Given the description of an element on the screen output the (x, y) to click on. 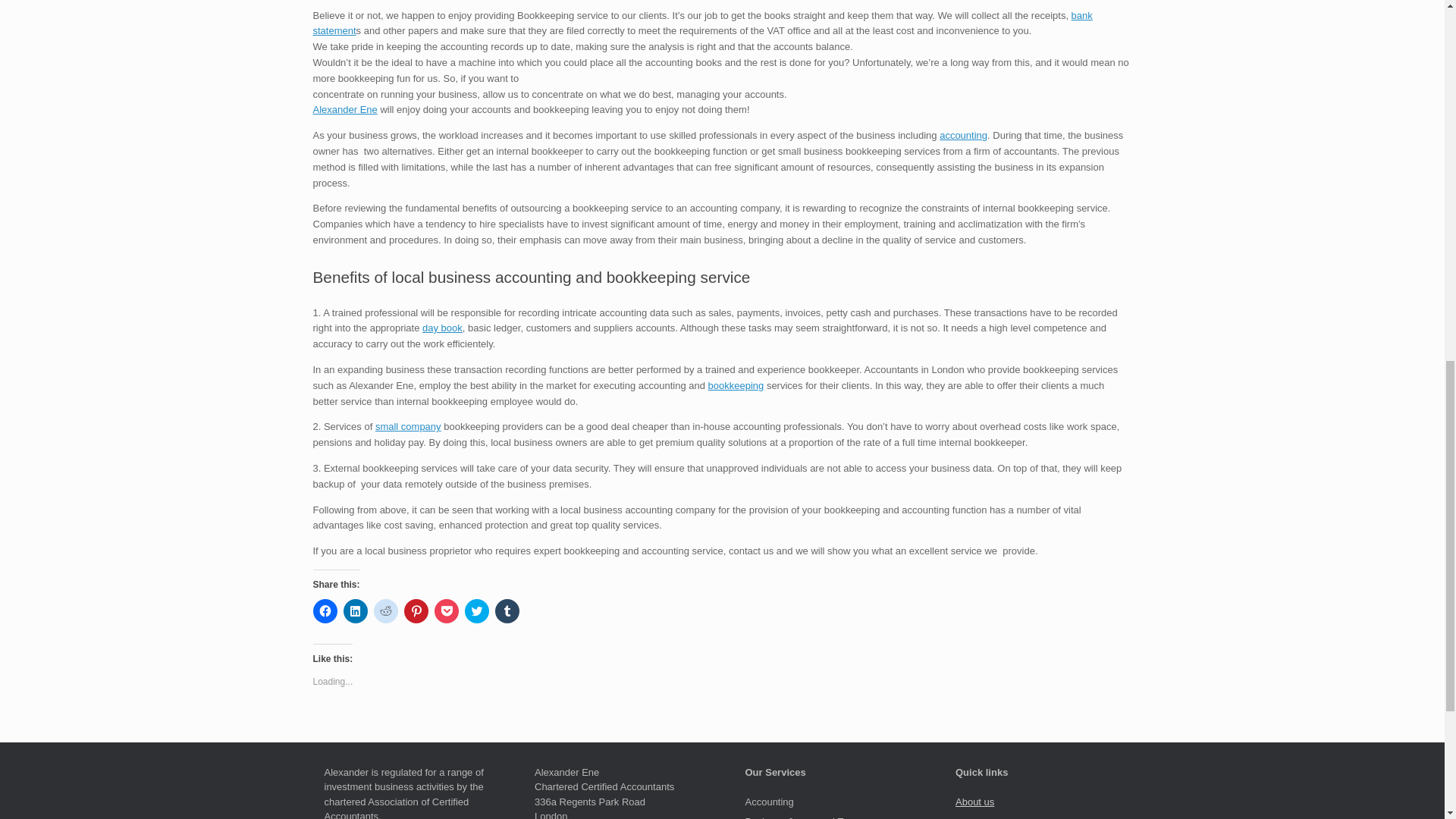
Click to share on Reddit (384, 610)
bookkeeping (735, 385)
Click to share on Pocket (445, 610)
Click to share on Twitter (475, 610)
Click to share on Tumblr (506, 610)
About us (974, 801)
Click to share on Pinterest (415, 610)
day book (442, 327)
Click to share on LinkedIn (354, 610)
small company (408, 426)
